Given the description of an element on the screen output the (x, y) to click on. 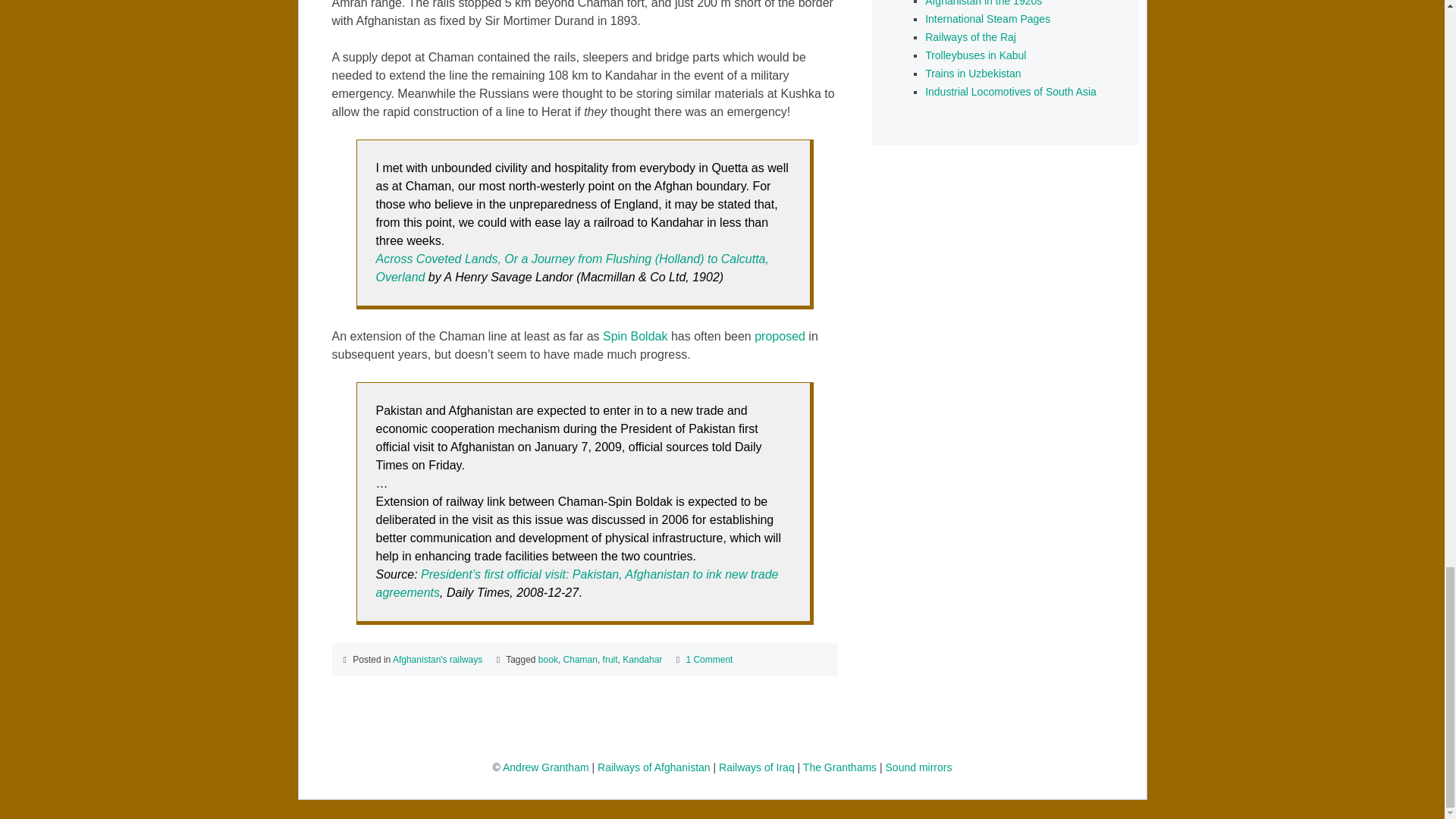
Chaman (579, 659)
1 Comment (708, 659)
book (547, 659)
Afghanistan's railways (437, 659)
fruit (609, 659)
Posts about Spin Boldak (634, 336)
Kandahar (642, 659)
Spin Boldak (634, 336)
proposed (779, 336)
